Given the description of an element on the screen output the (x, y) to click on. 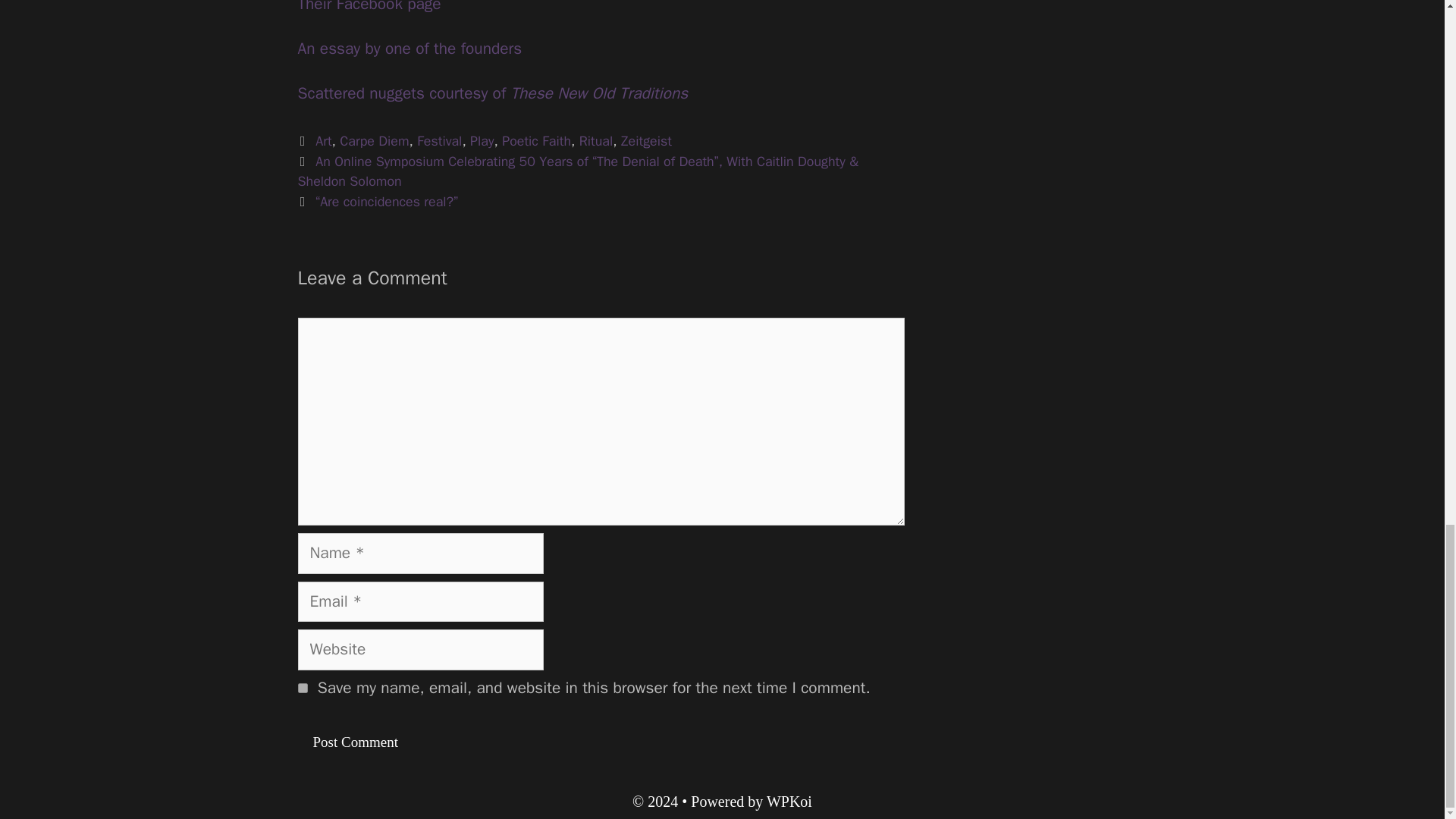
yes (302, 687)
Next (377, 201)
Previous (578, 171)
Post Comment (354, 742)
An essay by one of the founders (409, 48)
Their Facebook page (369, 6)
